Given the description of an element on the screen output the (x, y) to click on. 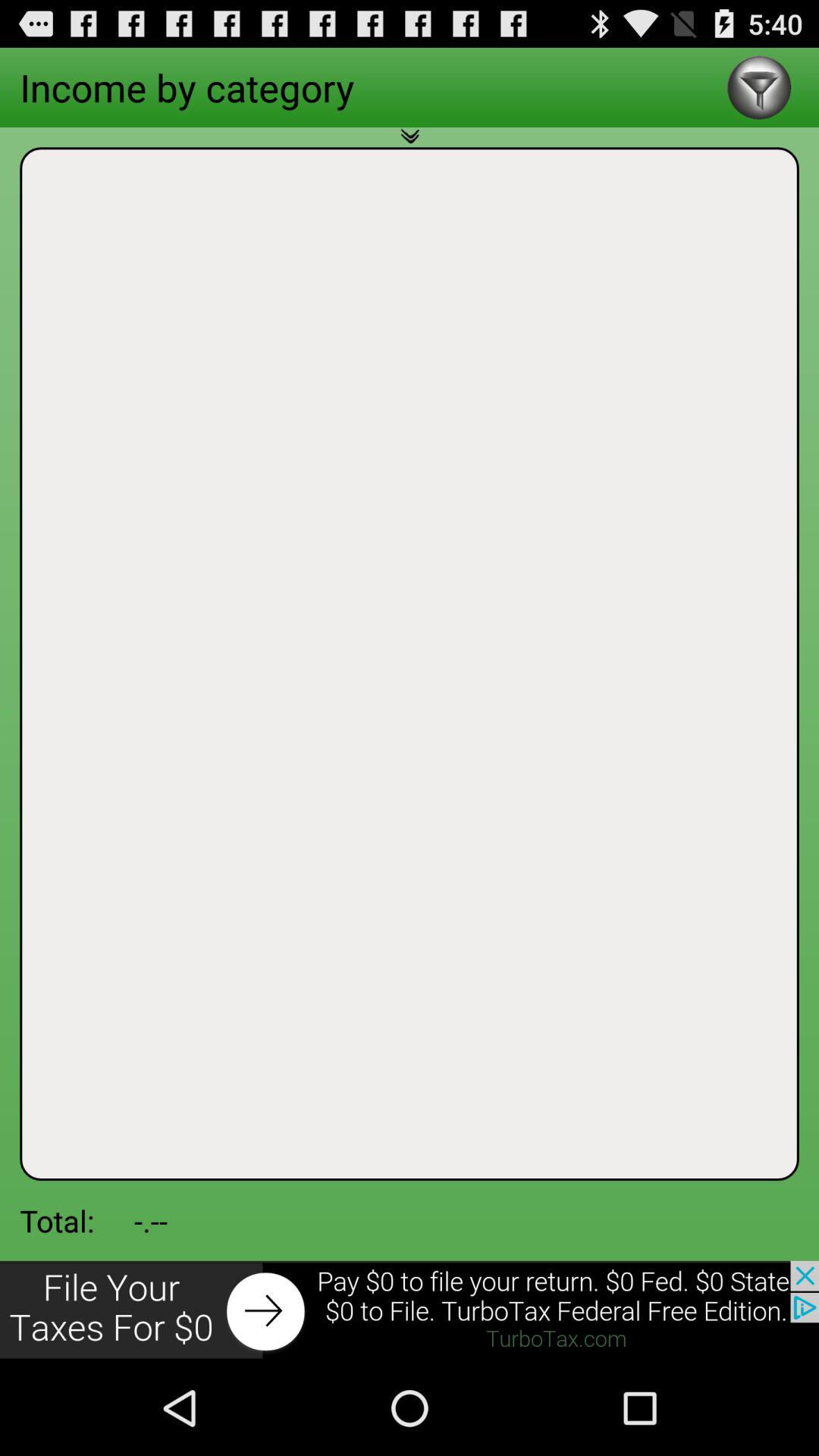
collapse pane (409, 145)
